Given the description of an element on the screen output the (x, y) to click on. 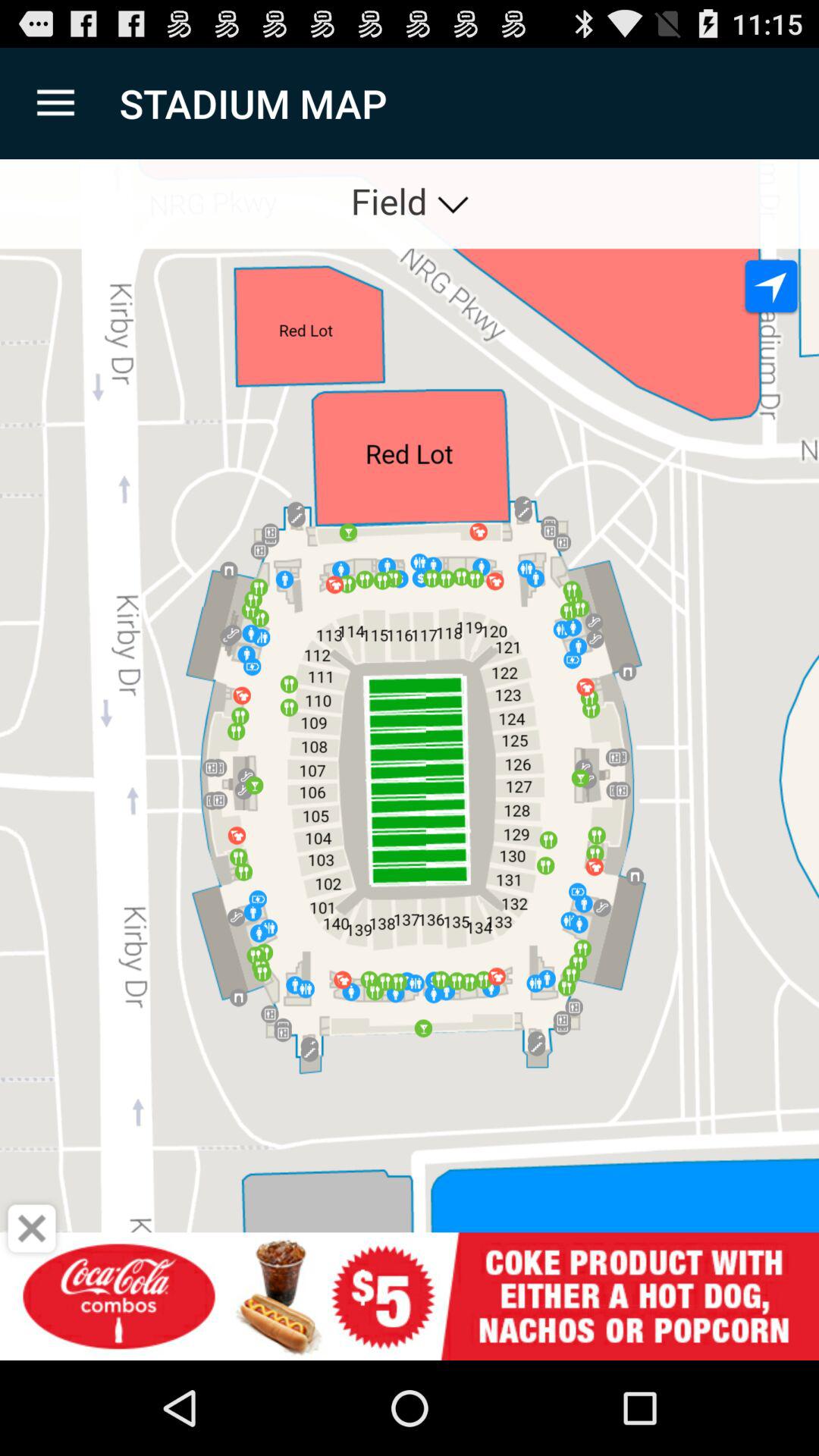
advertisement for coca cola (409, 1296)
